Given the description of an element on the screen output the (x, y) to click on. 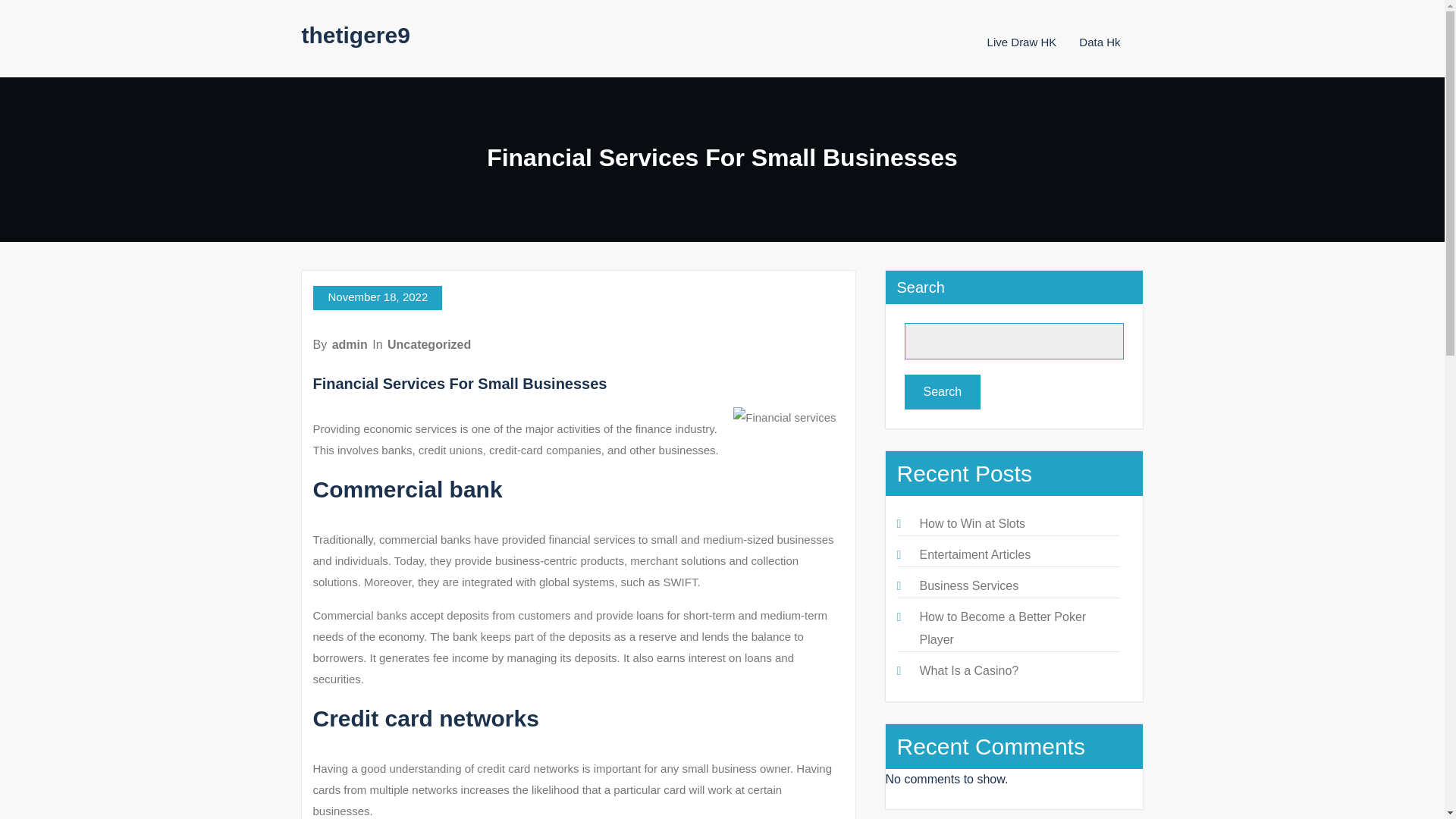
admin (349, 344)
Entertaiment Articles (974, 554)
Data Hk (1098, 41)
Business Services (967, 585)
How to Become a Better Poker Player (1002, 628)
November 18, 2022 (377, 297)
Search (941, 391)
thetigere9 (355, 34)
Uncategorized (428, 344)
What Is a Casino? (967, 670)
Live Draw HK (1022, 41)
How to Win at Slots (971, 522)
